Given the description of an element on the screen output the (x, y) to click on. 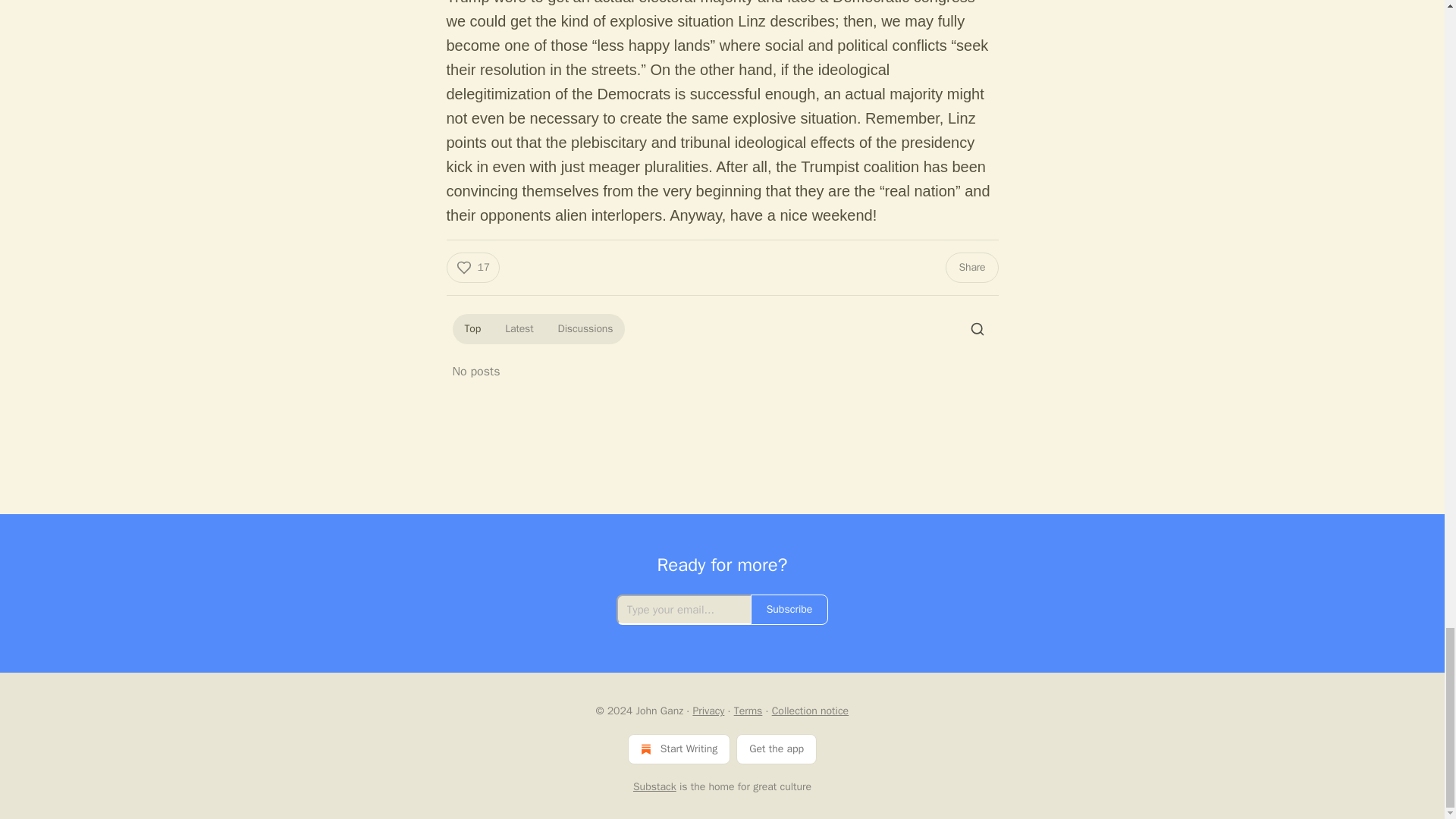
Get the app (776, 748)
Share (970, 267)
Privacy (708, 710)
Collection notice (809, 710)
Top (471, 328)
Latest (518, 328)
Terms (747, 710)
Start Writing (678, 748)
Discussions (585, 328)
Subscribe (789, 609)
17 (472, 267)
